Given the description of an element on the screen output the (x, y) to click on. 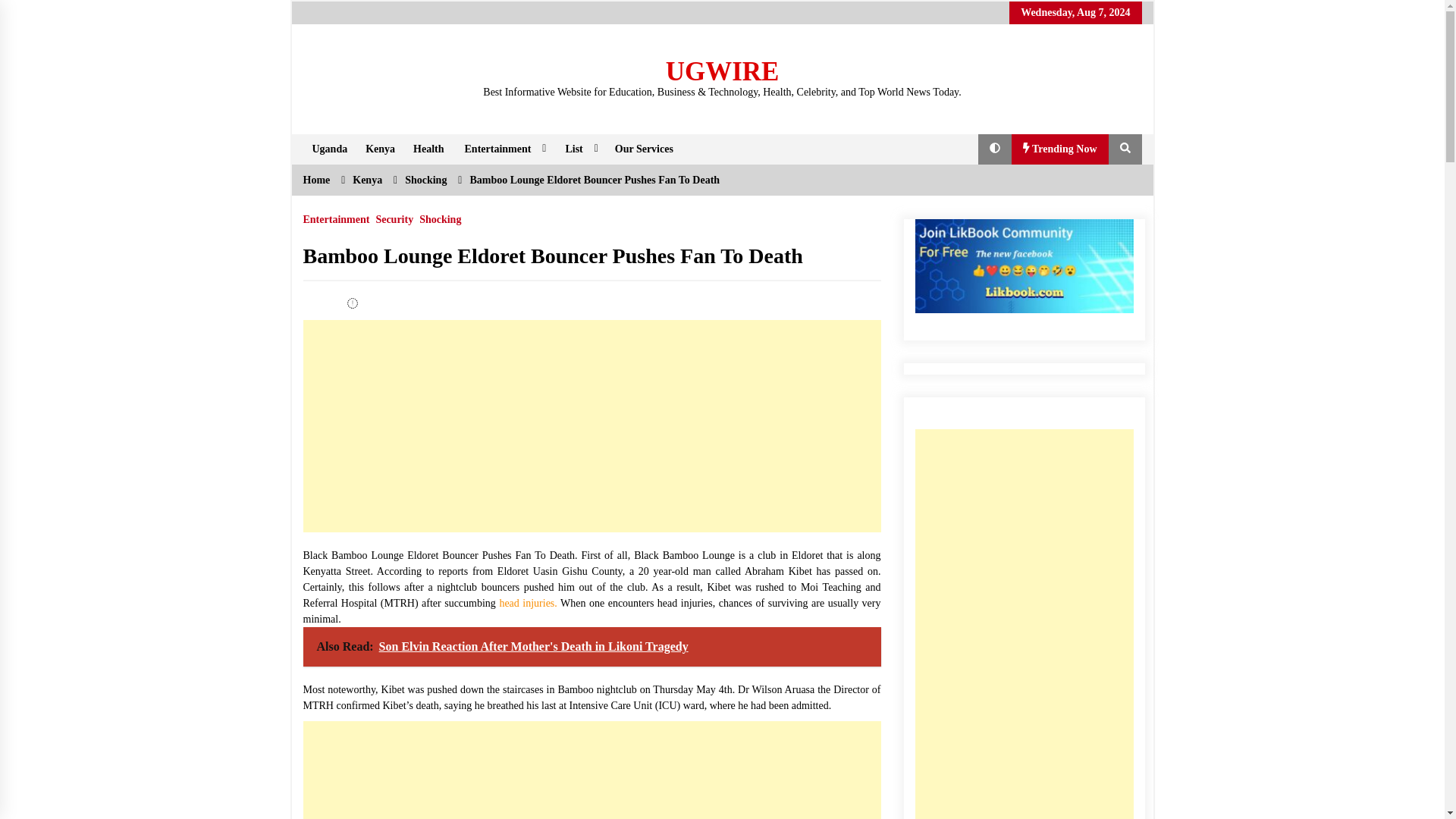
Health (428, 149)
List (579, 149)
Uganda (329, 149)
Advertisement (591, 426)
Advertisement (591, 770)
Entertainment (503, 149)
Our Services (643, 149)
UGWIRE (721, 71)
Kenya (380, 149)
